Given the description of an element on the screen output the (x, y) to click on. 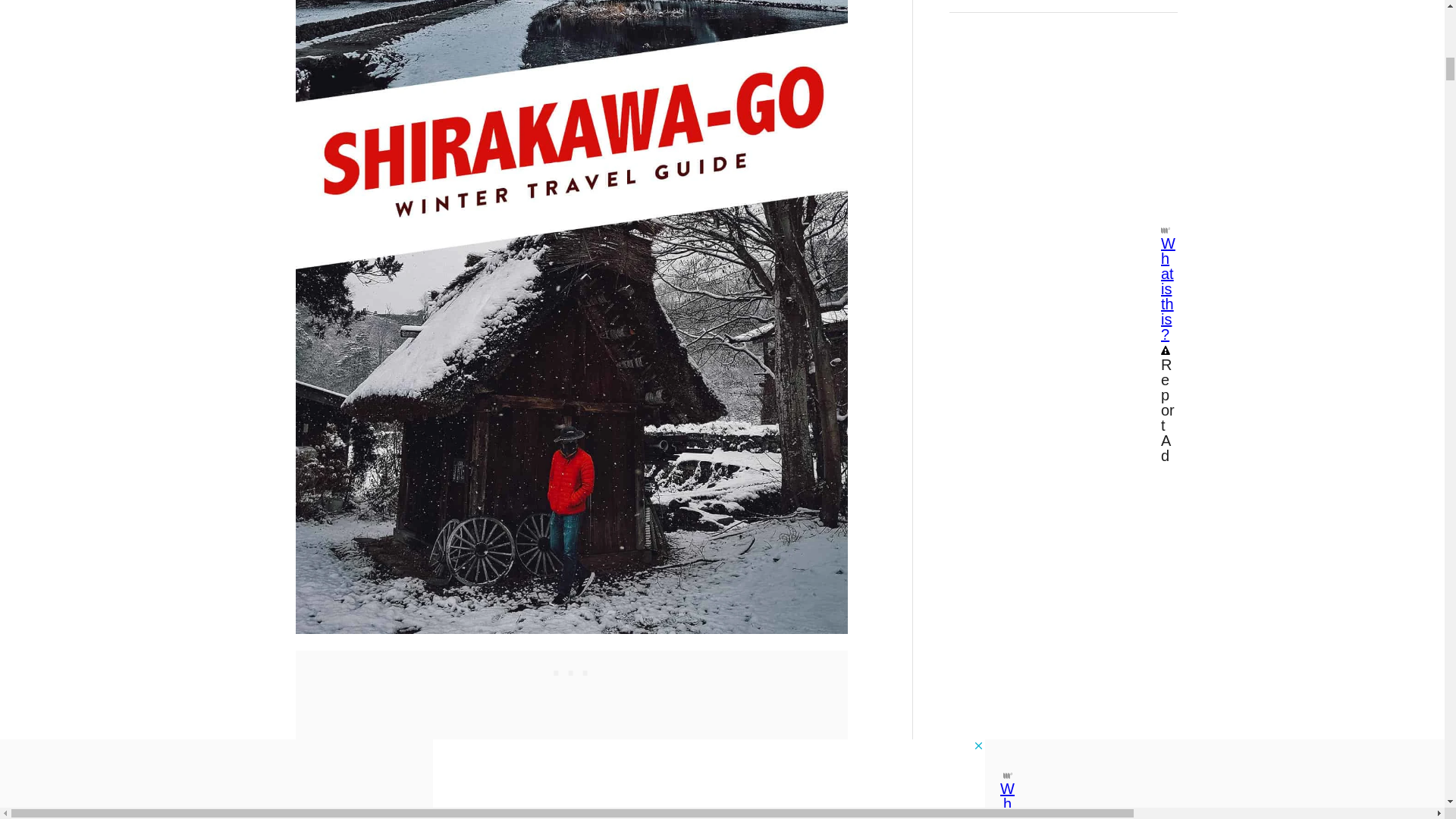
3rd party ad content (571, 669)
